Given the description of an element on the screen output the (x, y) to click on. 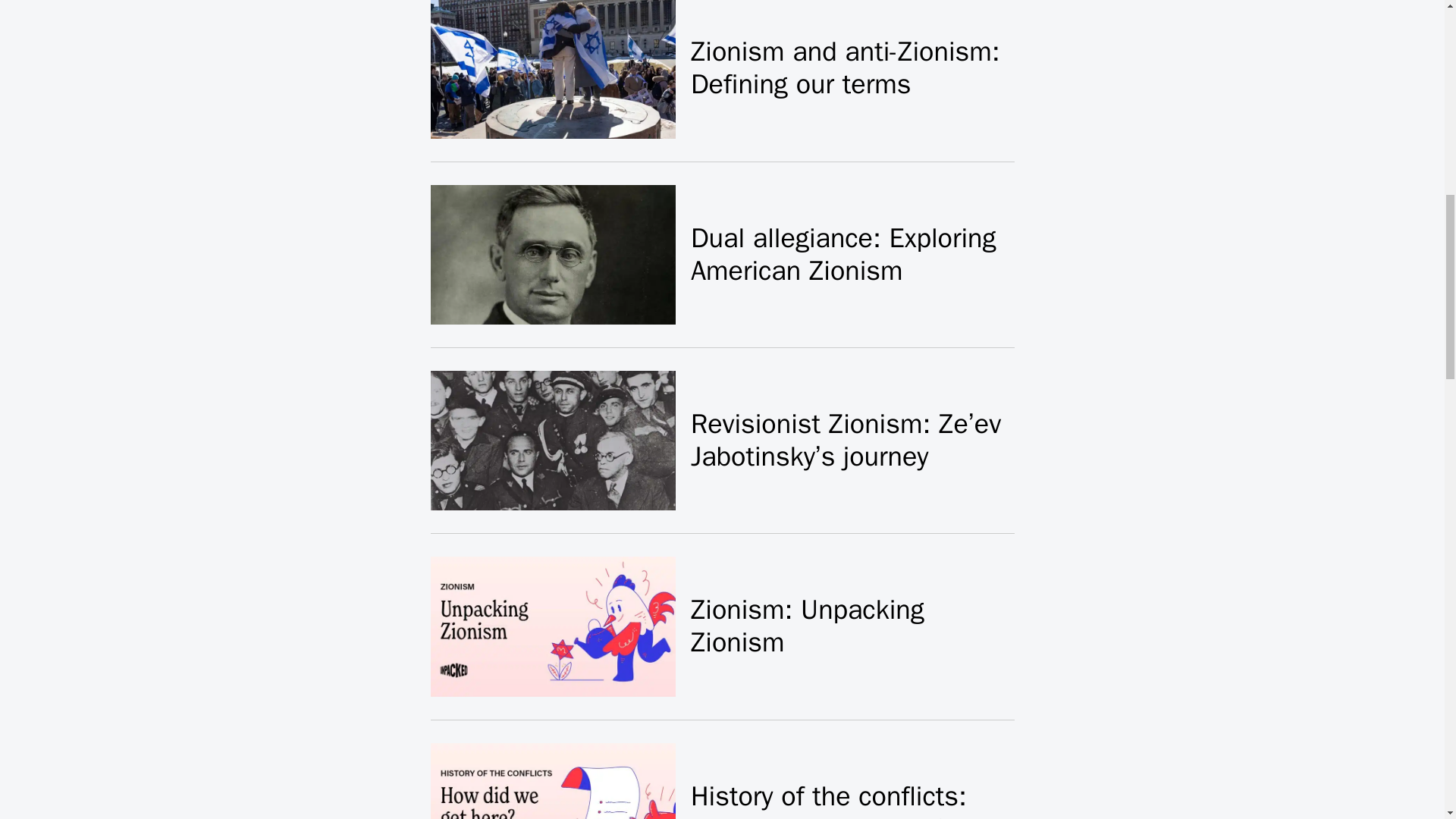
Zionism and anti-Zionism: Defining our terms (845, 67)
History of the conflicts: How did we get here? (828, 798)
Dual allegiance: Exploring American Zionism (842, 254)
Zionism: Unpacking Zionism (807, 626)
